Given the description of an element on the screen output the (x, y) to click on. 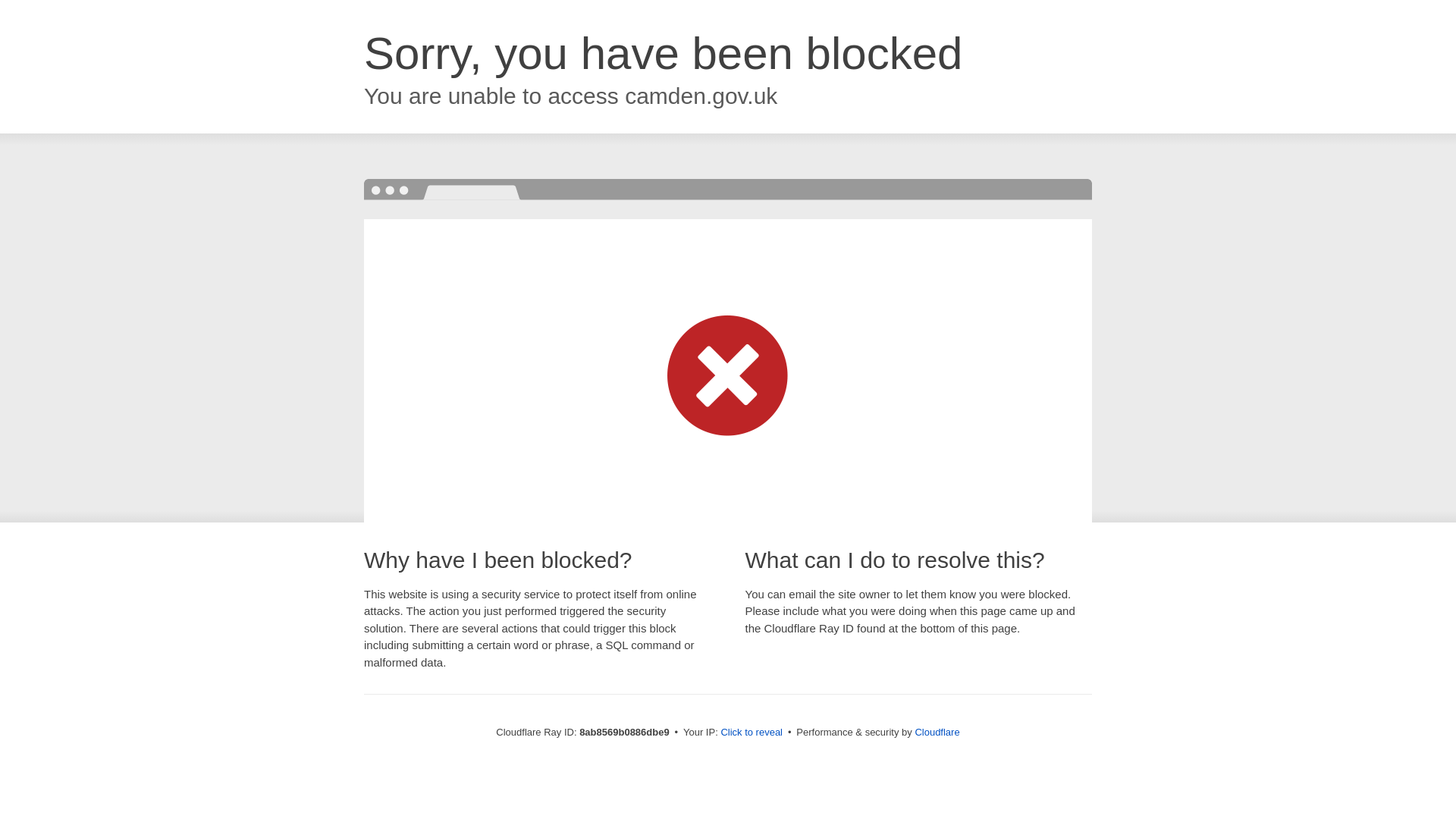
Cloudflare (936, 731)
Click to reveal (751, 732)
